Given the description of an element on the screen output the (x, y) to click on. 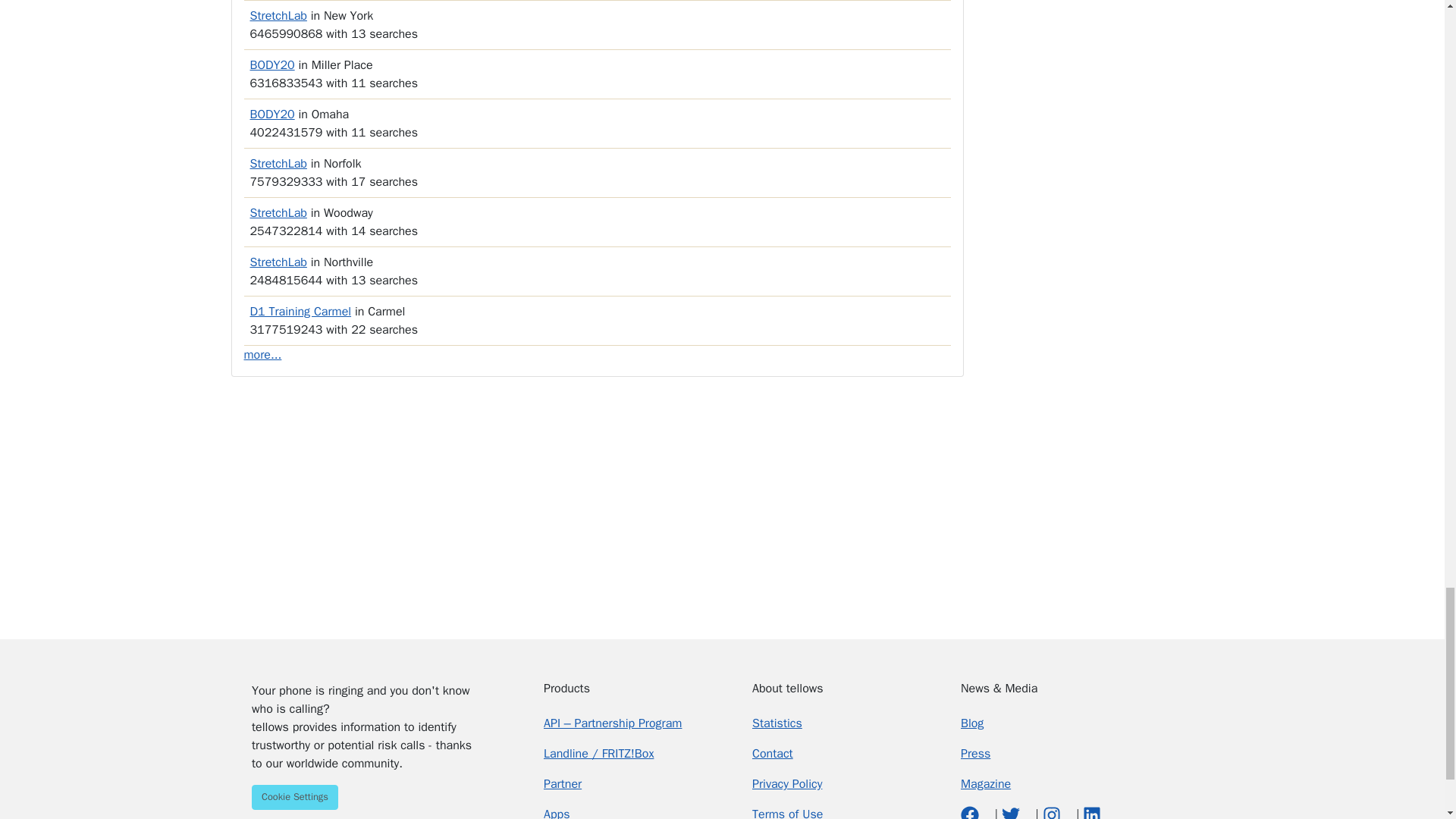
LinkedIn (1091, 812)
Facebook (971, 812)
Magazin (985, 783)
Instagram (1053, 812)
Blog (972, 723)
twitter (1012, 812)
Presse (975, 753)
